Given the description of an element on the screen output the (x, y) to click on. 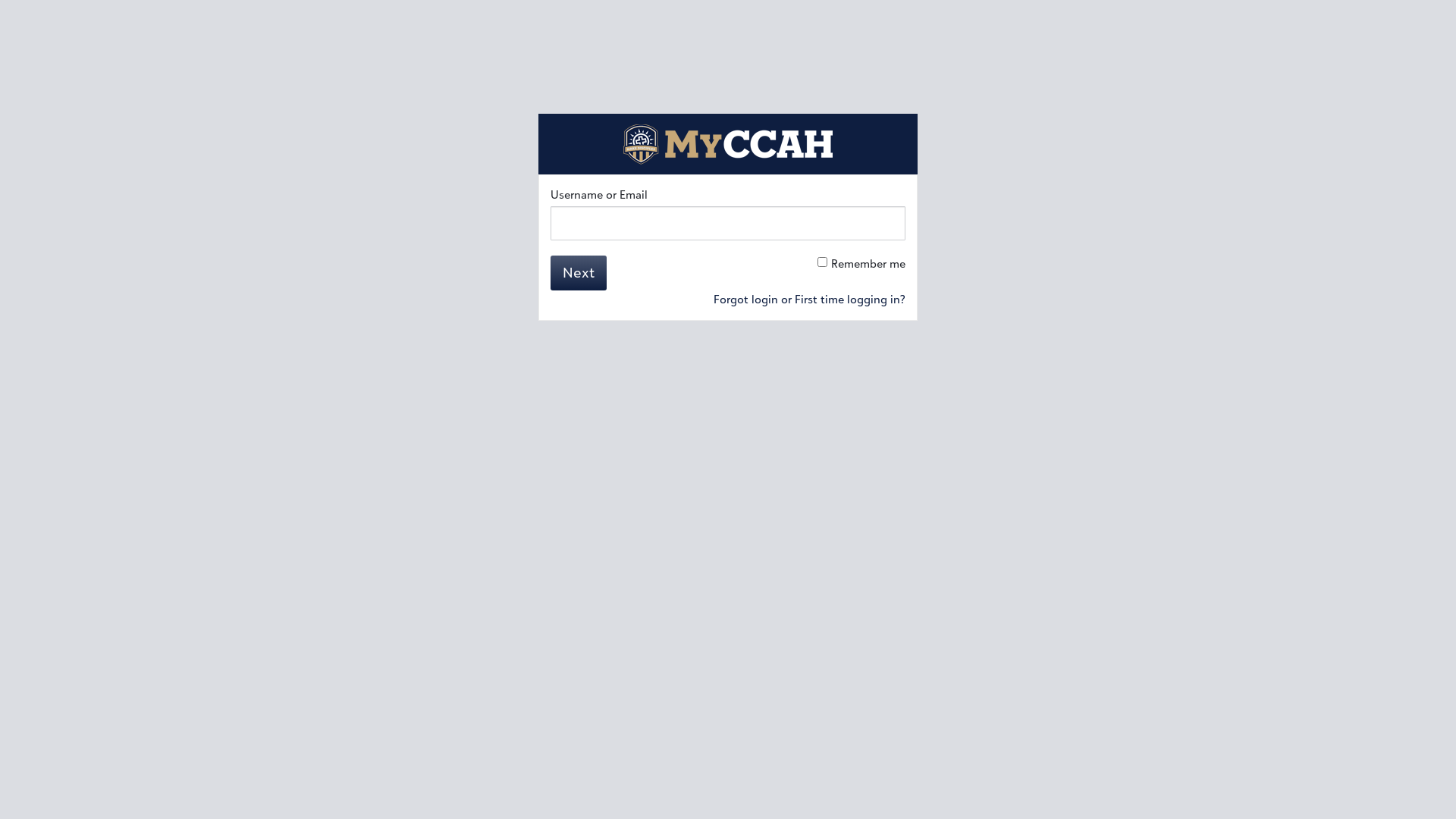
Next Element type: text (578, 272)
